Given the description of an element on the screen output the (x, y) to click on. 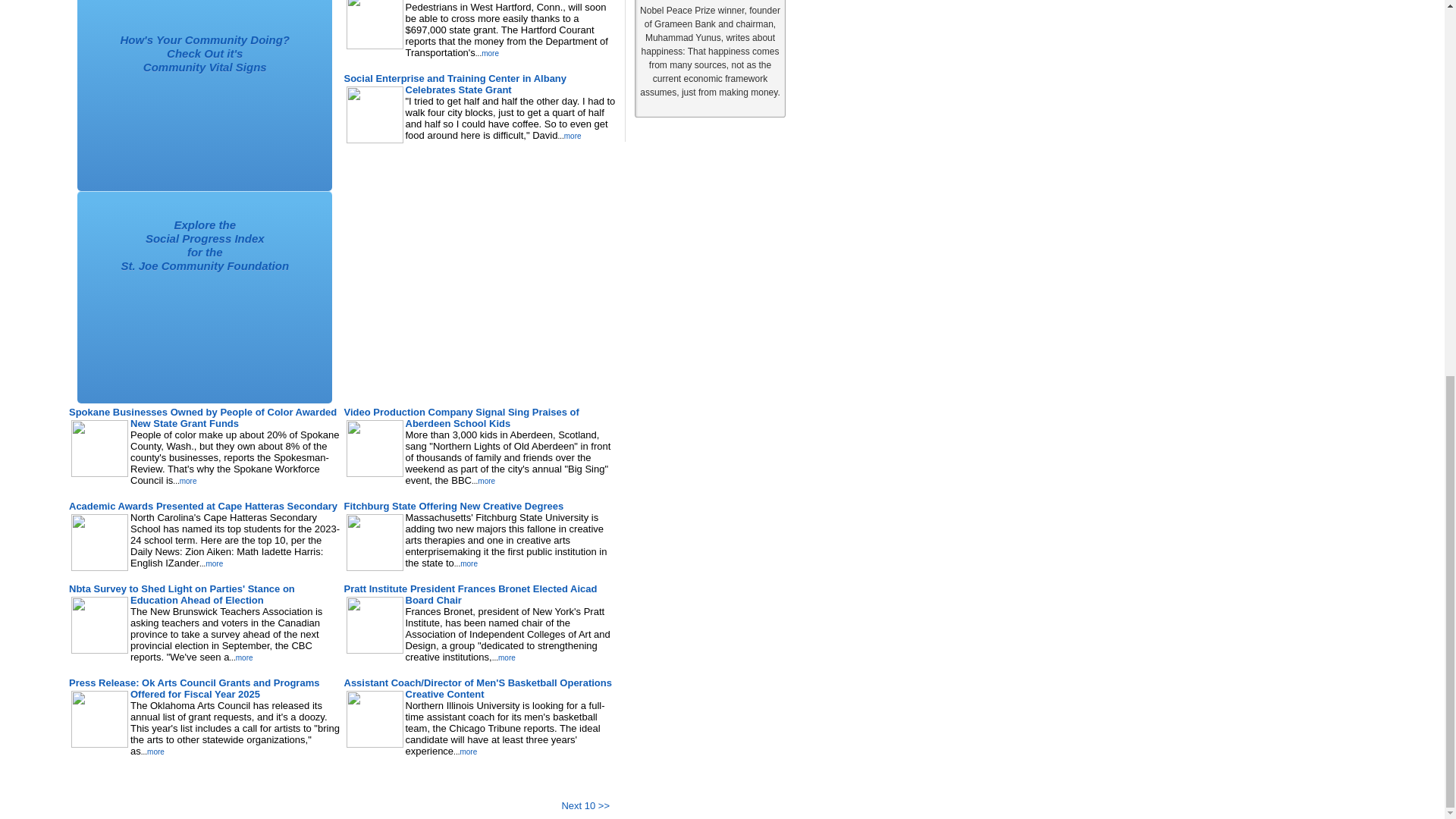
Academic Awards Presented at Cape Hatteras Secondary (202, 505)
more (187, 480)
more (486, 480)
more (572, 135)
more (468, 563)
